Given the description of an element on the screen output the (x, y) to click on. 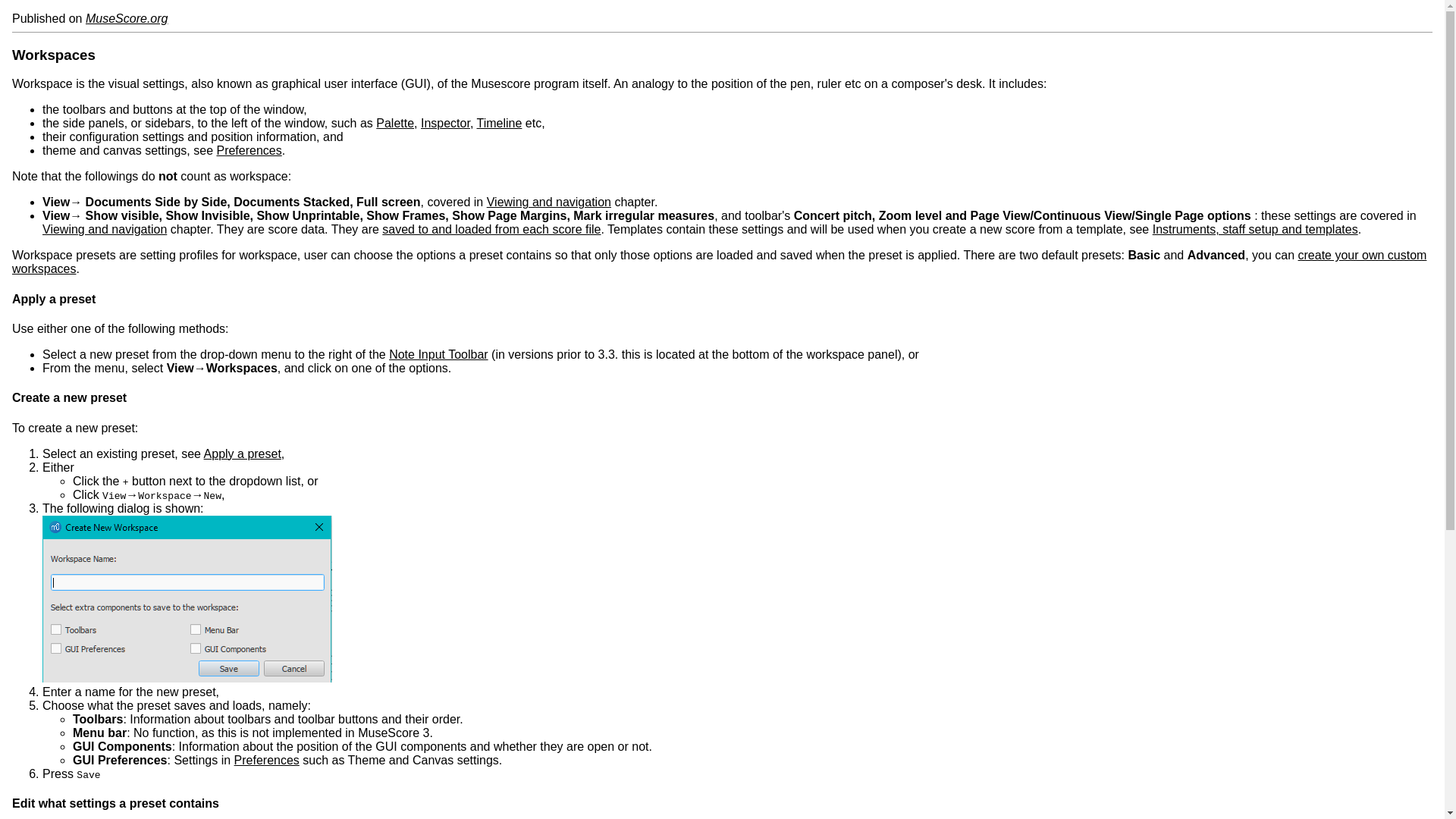
Instruments, staff setup and templates (1255, 228)
Apply a preset (242, 453)
MuseScore.org (126, 18)
Inspector (445, 123)
Palette (394, 123)
Preferences (248, 150)
Preferences (266, 759)
Create new workspace dialog (186, 598)
Viewing and navigation (104, 228)
Viewing and navigation (548, 201)
saved to and loaded from each score file (490, 228)
Note Input Toolbar (437, 354)
Timeline (499, 123)
